Given the description of an element on the screen output the (x, y) to click on. 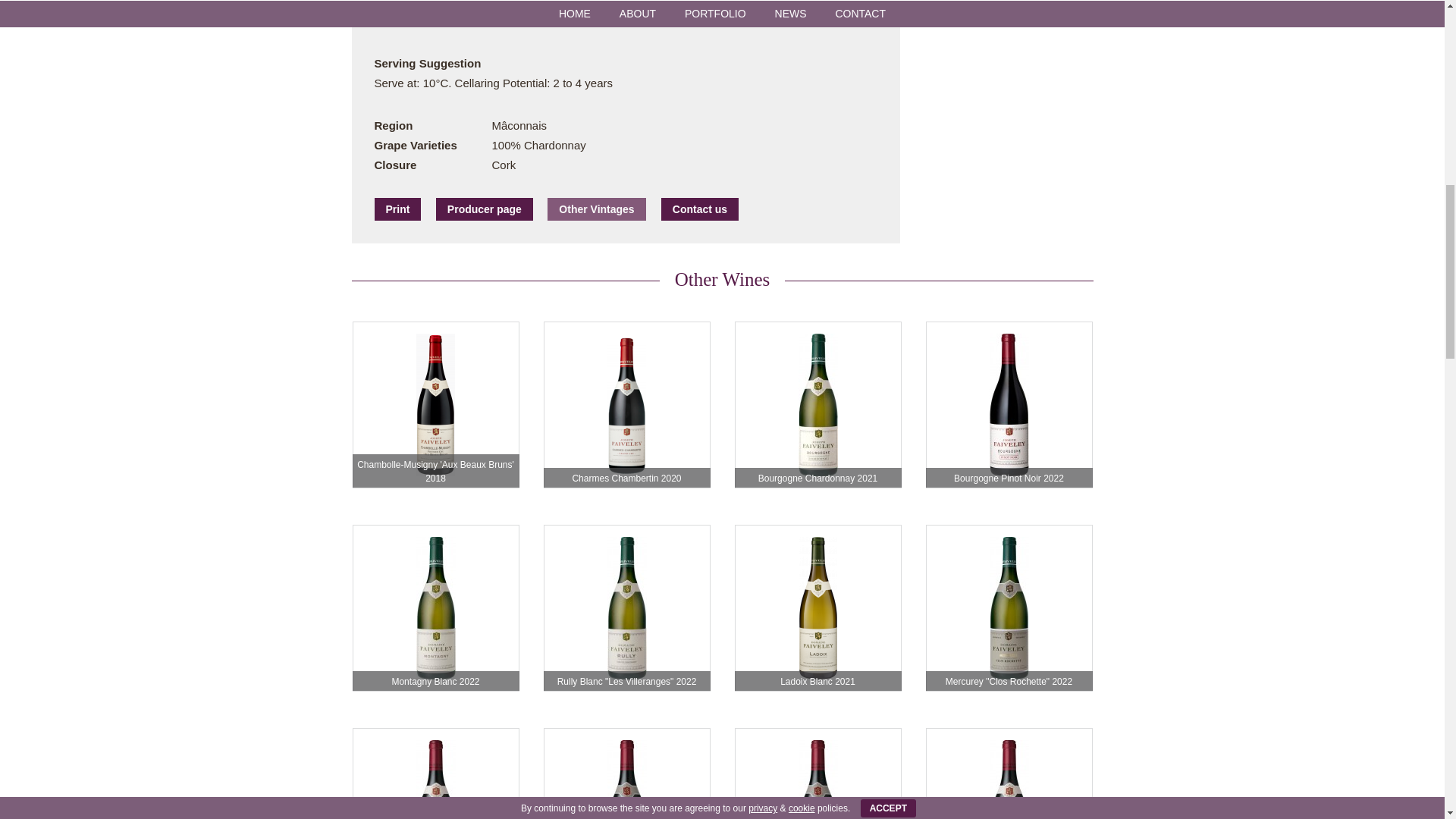
Mercurey "Clos Rochette" 2022 (1008, 607)
Rully Blanc  (626, 607)
Producer page (483, 209)
Mercurey  (817, 773)
Contact us (699, 209)
Bourgogne Pinot Noir 2022 (1008, 404)
Mercurey "Clos des Myglands" 2021 (817, 773)
Rully Blanc "Les Villeranges" 2022 (626, 607)
Bourgogne Chardonnay 2021 (817, 404)
Charmes Chambertin 2020 (626, 404)
